Given the description of an element on the screen output the (x, y) to click on. 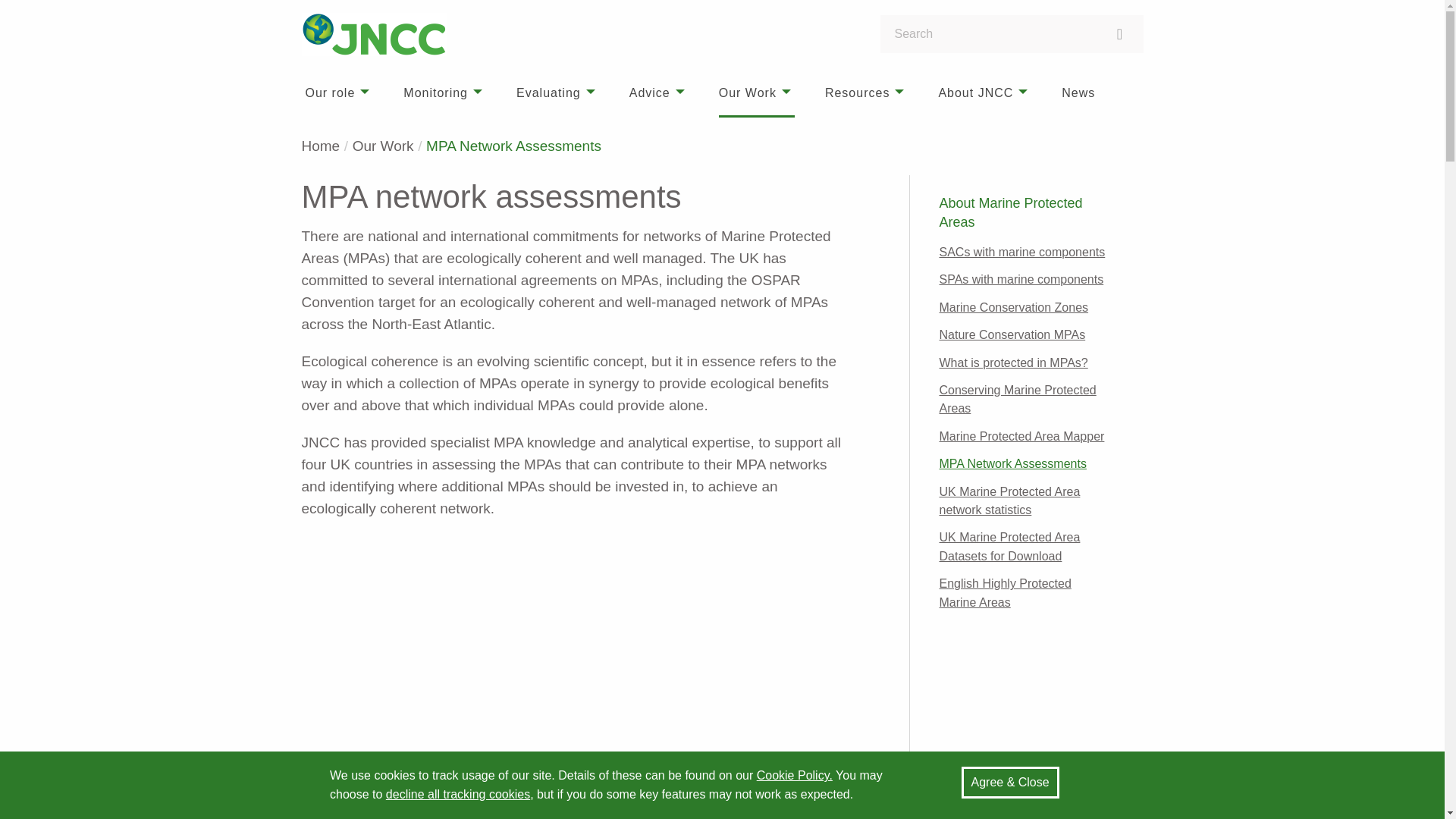
Evaluating (557, 92)
Advice (658, 92)
Our Work (382, 145)
Monitoring (444, 92)
Resources (866, 92)
About JNCC (983, 92)
Our role (338, 92)
Our Work (756, 92)
Home (320, 145)
